Given the description of an element on the screen output the (x, y) to click on. 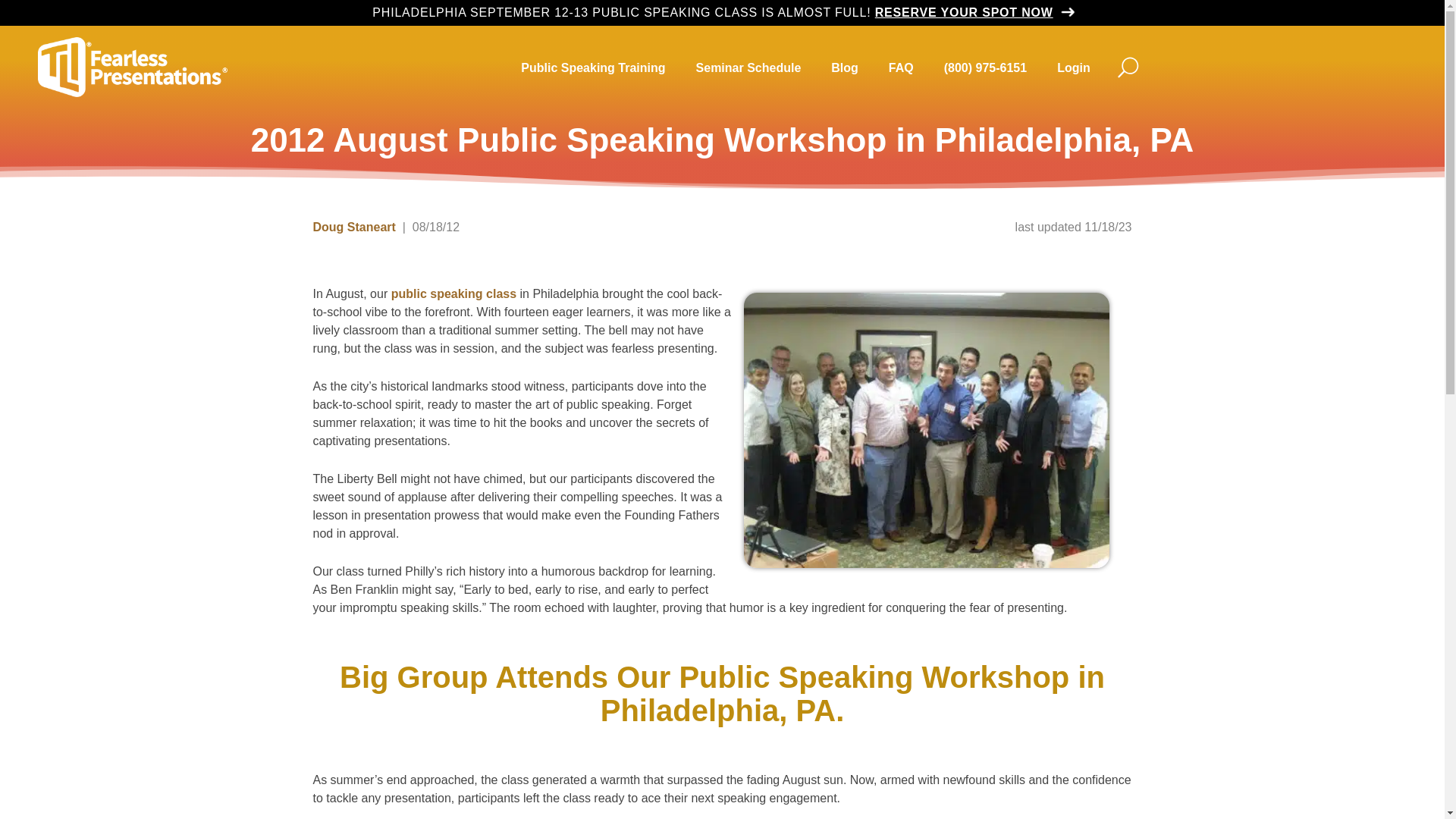
Public Speaking Training (592, 68)
RESERVE YOUR SPOT NOW (973, 11)
Frequently Asked Questions About Public Speaking Training (900, 68)
Blog (844, 68)
public speaking class (453, 293)
Public Speaking Class Near Me (748, 68)
FAQ (900, 68)
Login (1073, 68)
Doug Staneart (353, 226)
Seminar Schedule (748, 68)
